Given the description of an element on the screen output the (x, y) to click on. 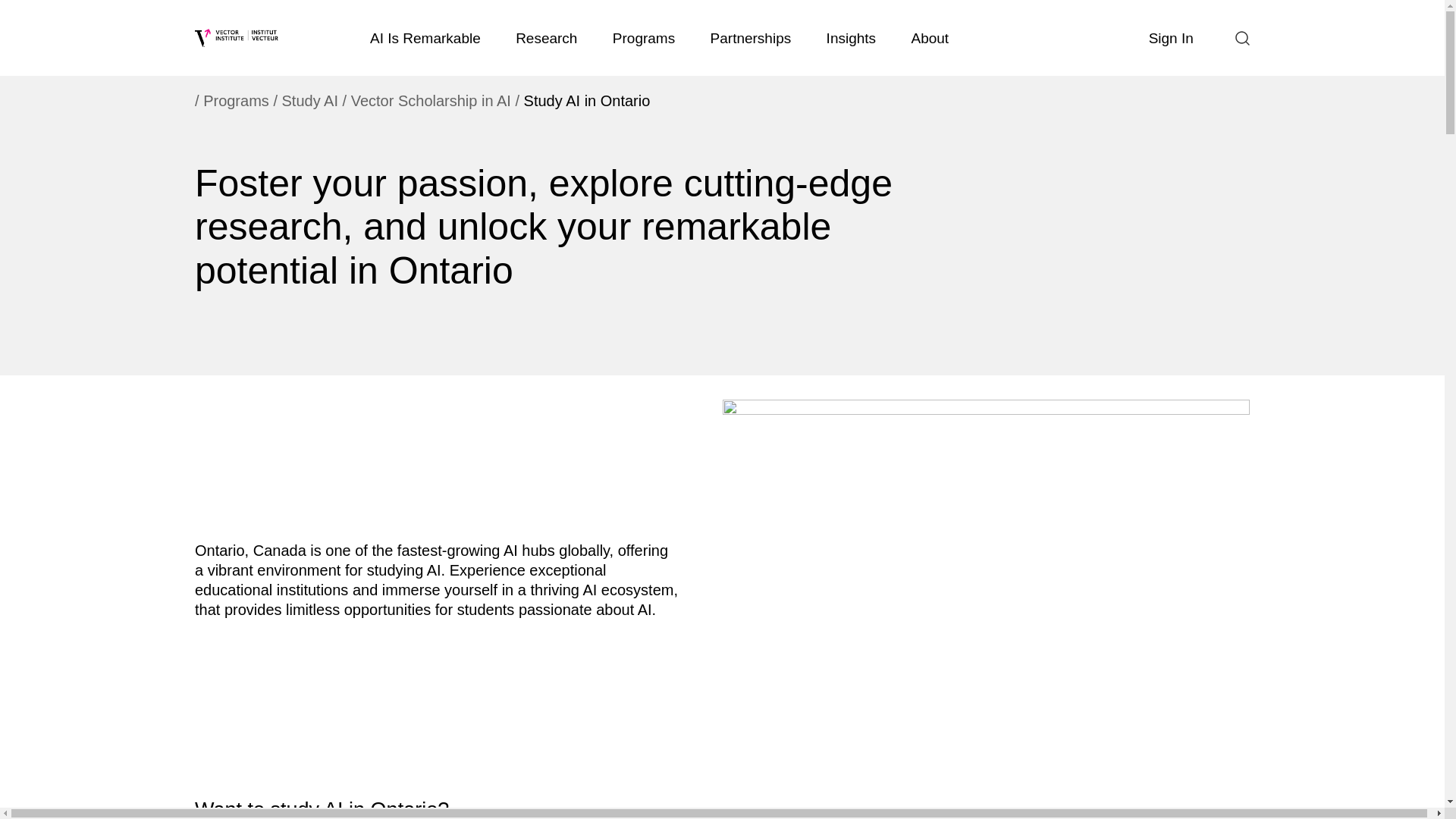
AI Is Remarkable (425, 37)
Partnerships (750, 37)
About (929, 37)
Programs (644, 37)
Insights (849, 37)
Research (546, 37)
